Given the description of an element on the screen output the (x, y) to click on. 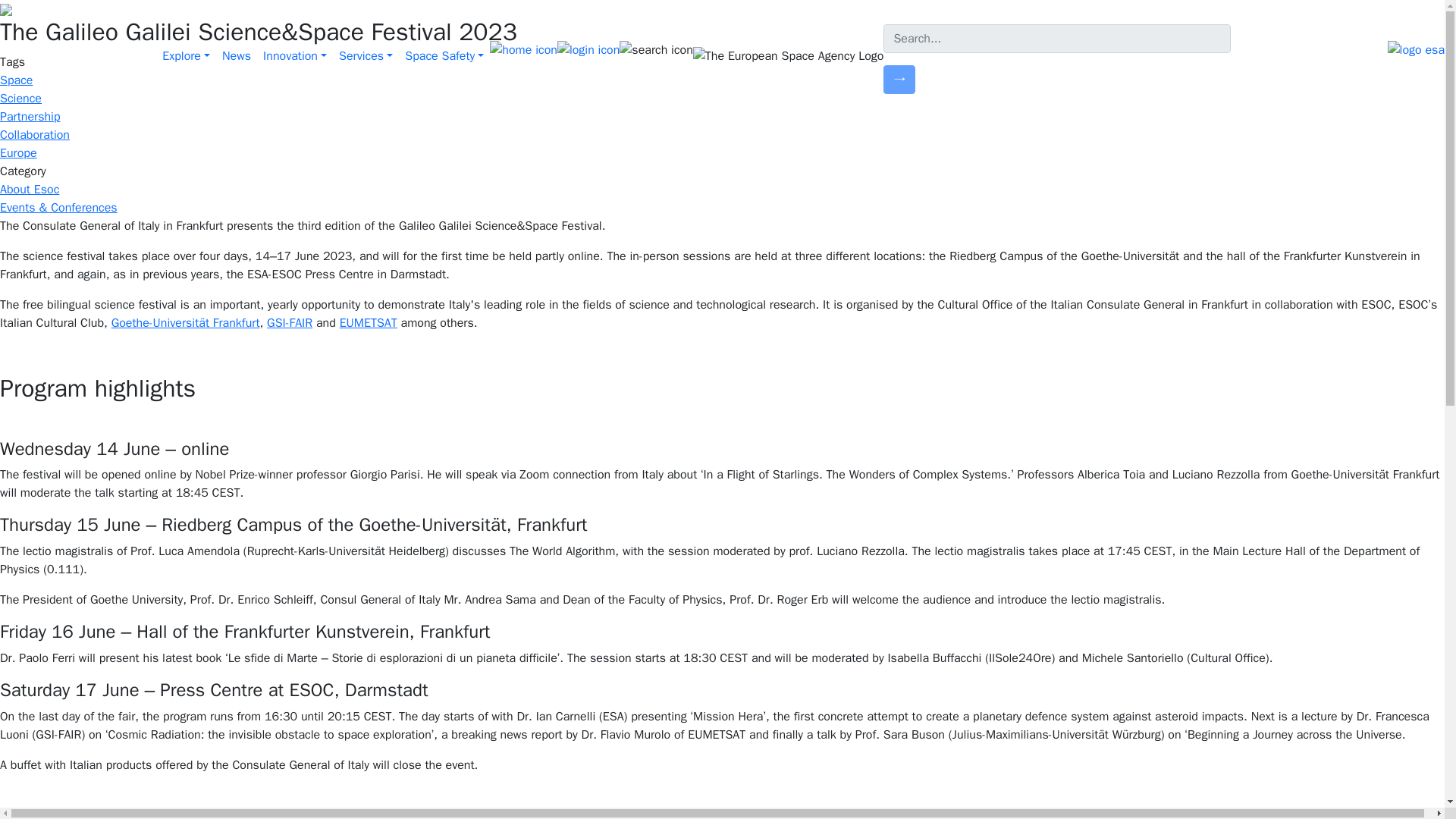
Services (365, 55)
Science (21, 98)
News (236, 55)
Explore (185, 55)
Space (16, 79)
Space Safety (443, 55)
Innovation (295, 55)
